Given the description of an element on the screen output the (x, y) to click on. 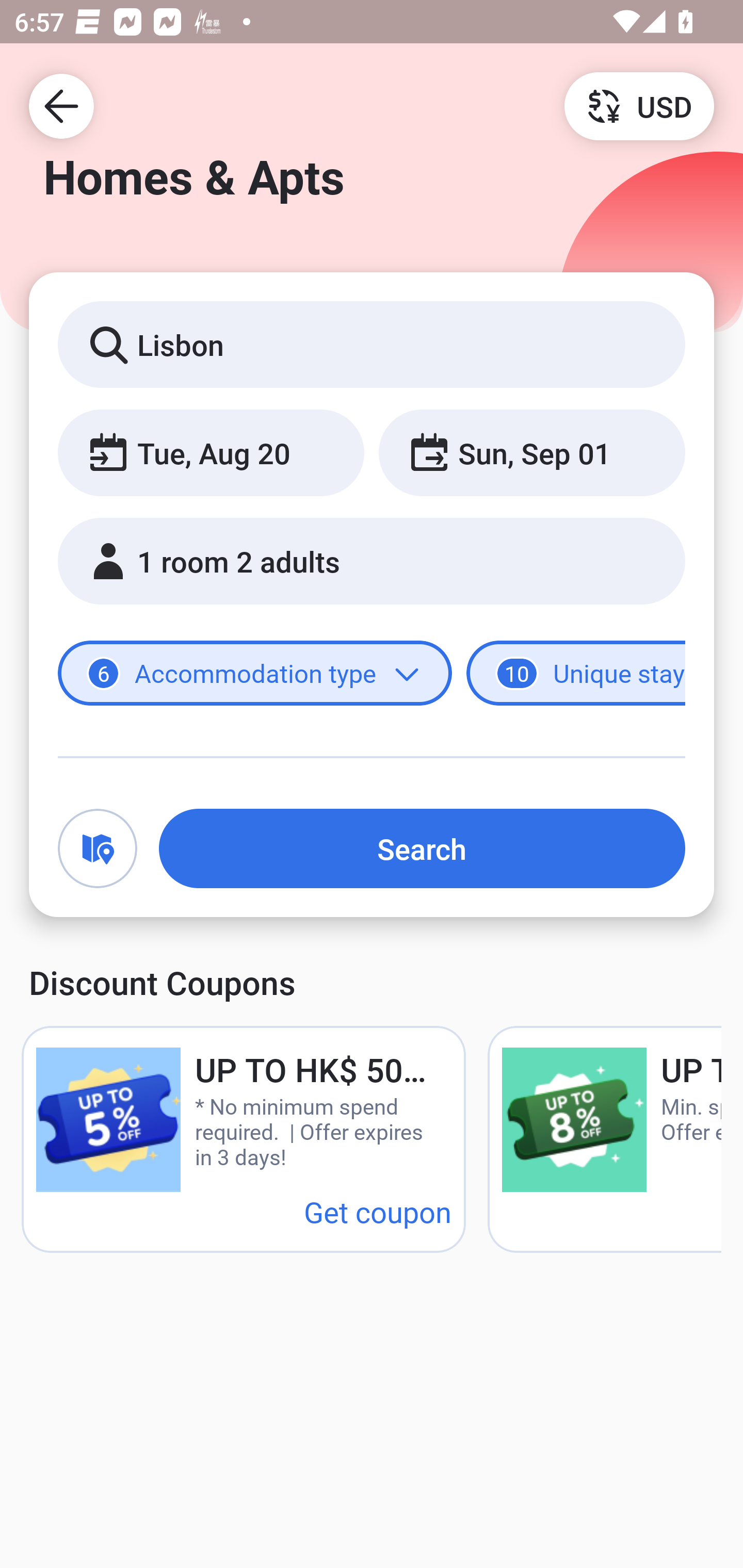
USD (639, 105)
Lisbon (371, 344)
Tue, Aug 20 (210, 452)
Sun, Sep 01 (531, 452)
1 room 2 adults (371, 561)
6 Accommodation type (254, 673)
10 Unique stays (575, 673)
Search (422, 848)
Get coupon (377, 1211)
